Given the description of an element on the screen output the (x, y) to click on. 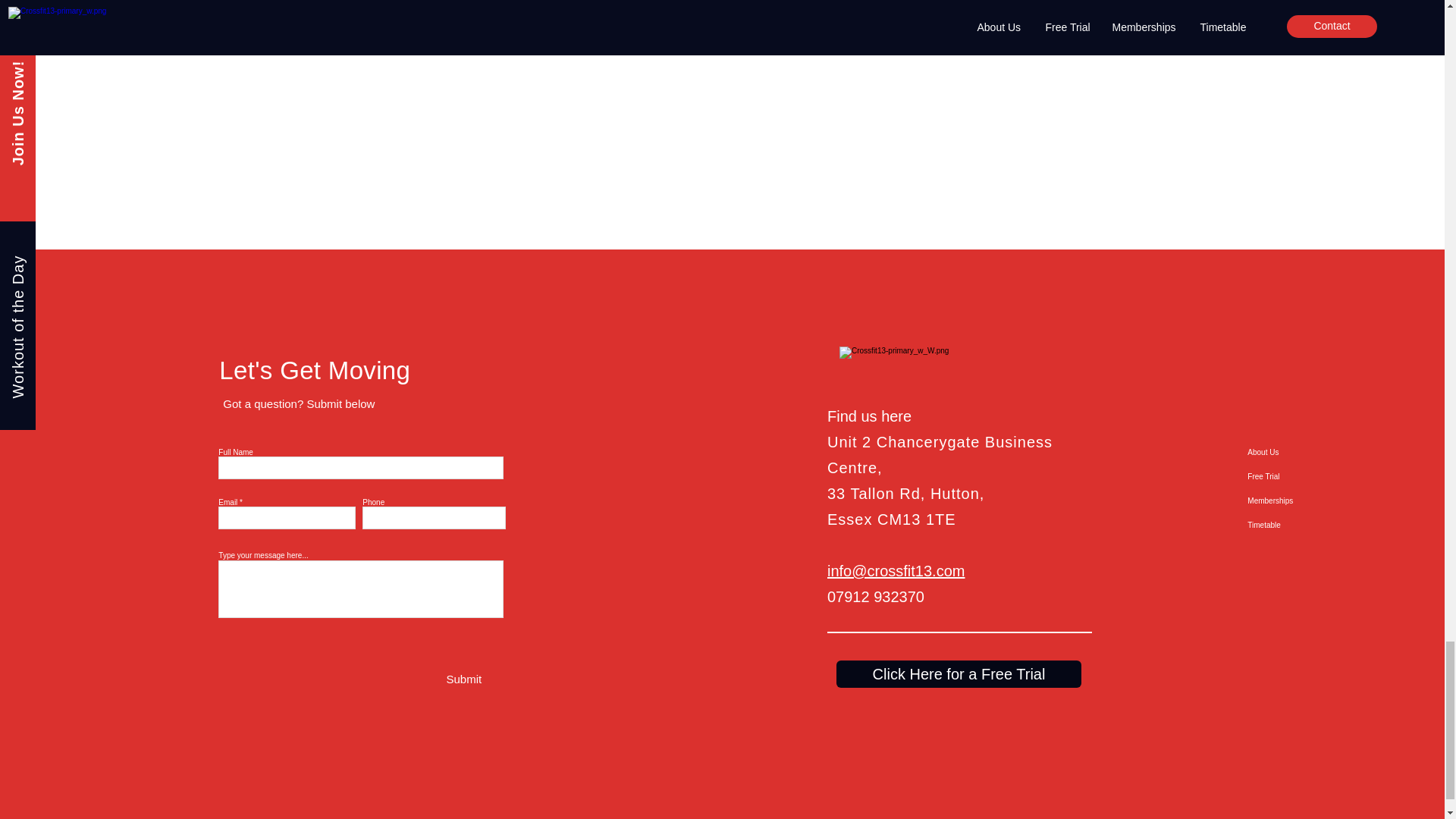
Timetable (1294, 525)
Submit (463, 679)
Free Trial (1294, 476)
About Us (1294, 452)
Click Here for a Free Trial (958, 673)
Memberships (1294, 500)
